Given the description of an element on the screen output the (x, y) to click on. 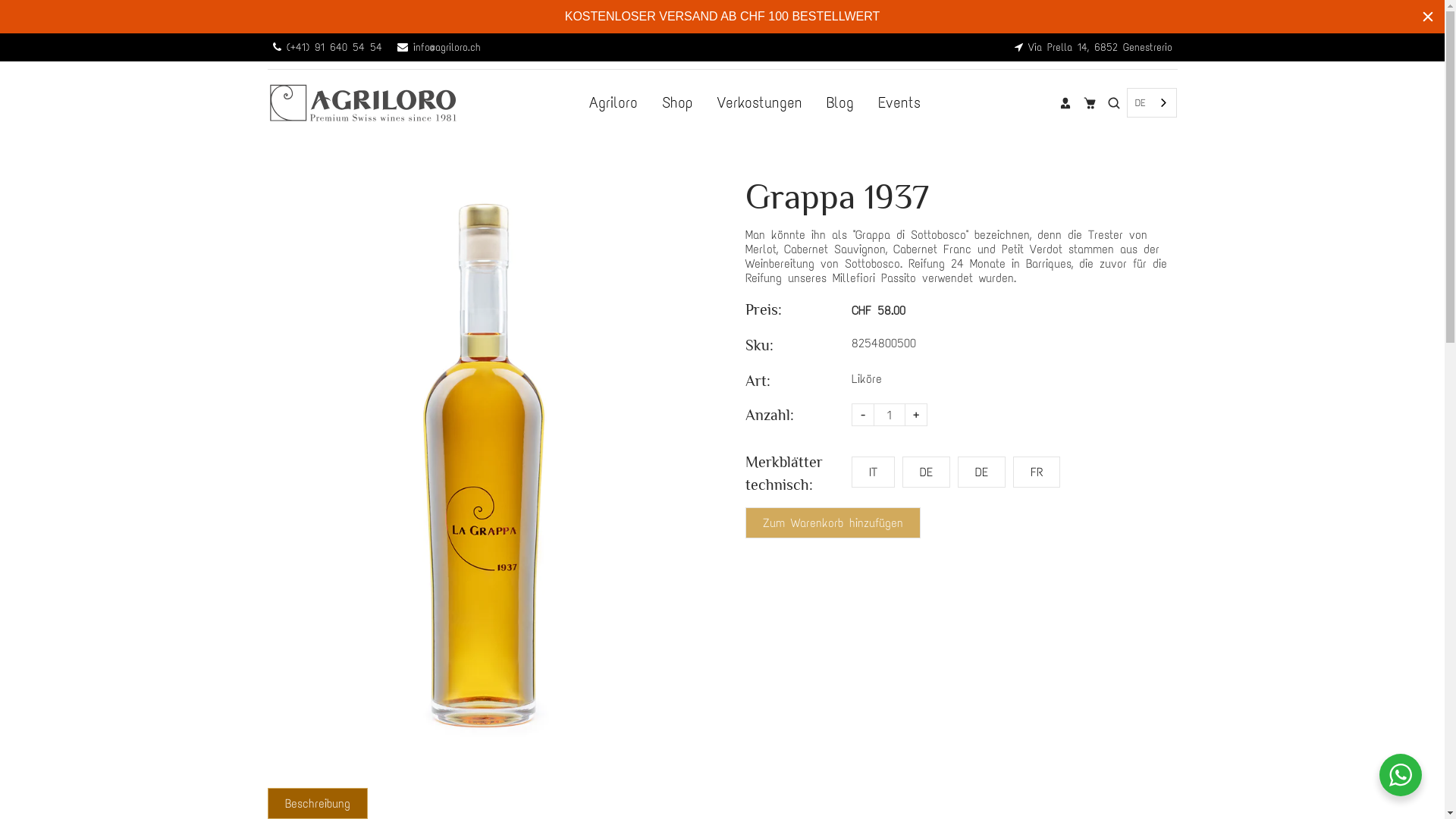
info@agriloro.ch Element type: text (438, 47)
Agriloro Element type: text (613, 102)
Blog Element type: text (840, 102)
DE Element type: text (1150, 102)
Shop Element type: text (677, 102)
Via Prella 14, 6852 Genestrerio Element type: text (1093, 47)
(+41) 91 640 54 54 Element type: text (327, 47)
DE Element type: text (926, 471)
Suche Element type: text (1113, 102)
Verkostungen Element type: text (759, 102)
- Element type: text (861, 414)
DE Element type: text (980, 471)
FR Element type: text (1036, 471)
Grappa 1937 Element type: hover (482, 465)
Eintragen Element type: text (1065, 102)
+ Element type: text (914, 414)
Trolley Element type: text (1089, 102)
Events Element type: text (898, 102)
IT Element type: text (872, 471)
